Given the description of an element on the screen output the (x, y) to click on. 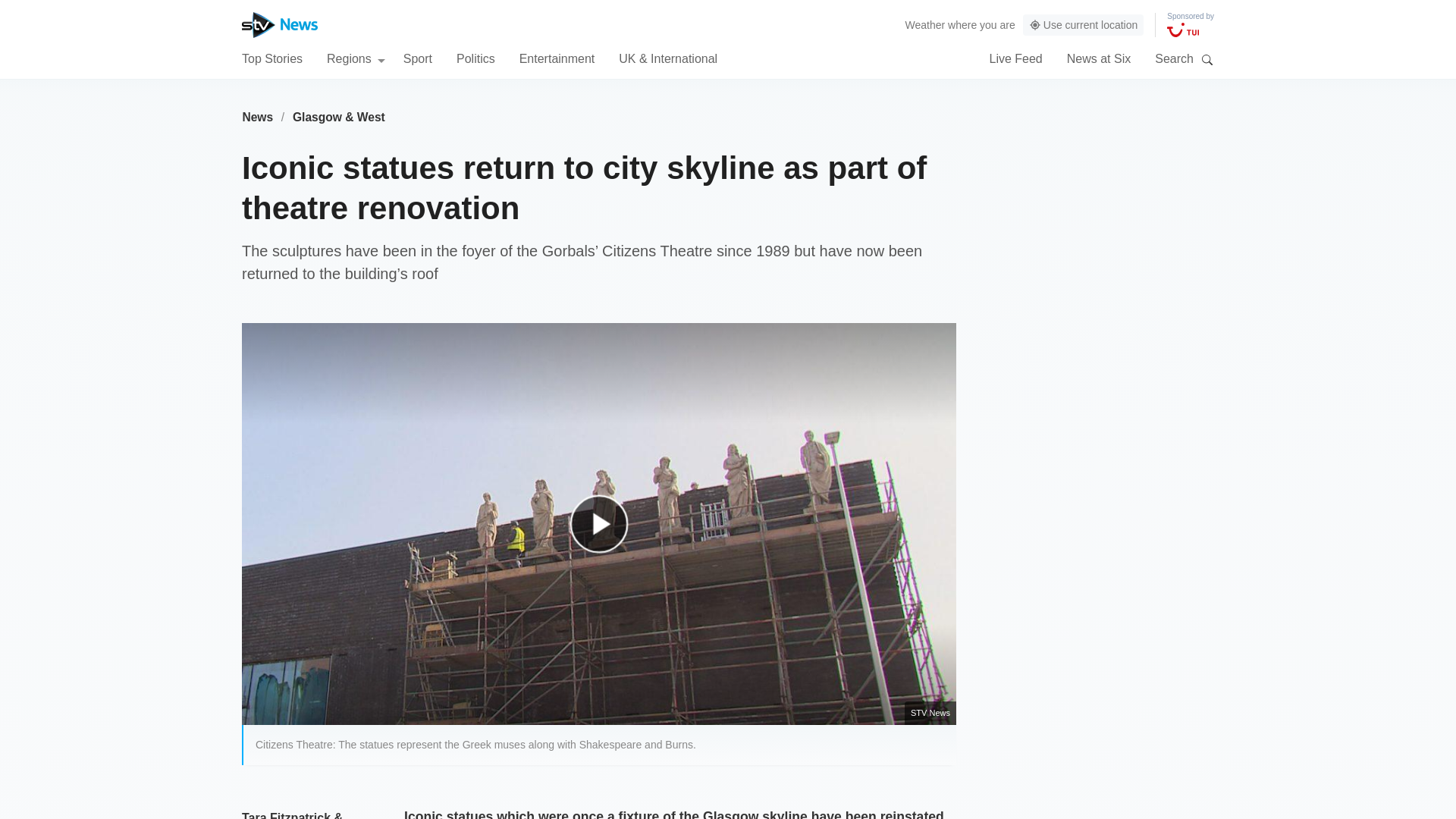
Live Feed (1015, 57)
Regions (355, 57)
Entertainment (557, 57)
Top Stories (271, 57)
News (257, 116)
News at Six (1099, 57)
Play Video (606, 530)
Search (1206, 59)
Politics (476, 57)
Use current location (1083, 25)
Weather (924, 24)
